Given the description of an element on the screen output the (x, y) to click on. 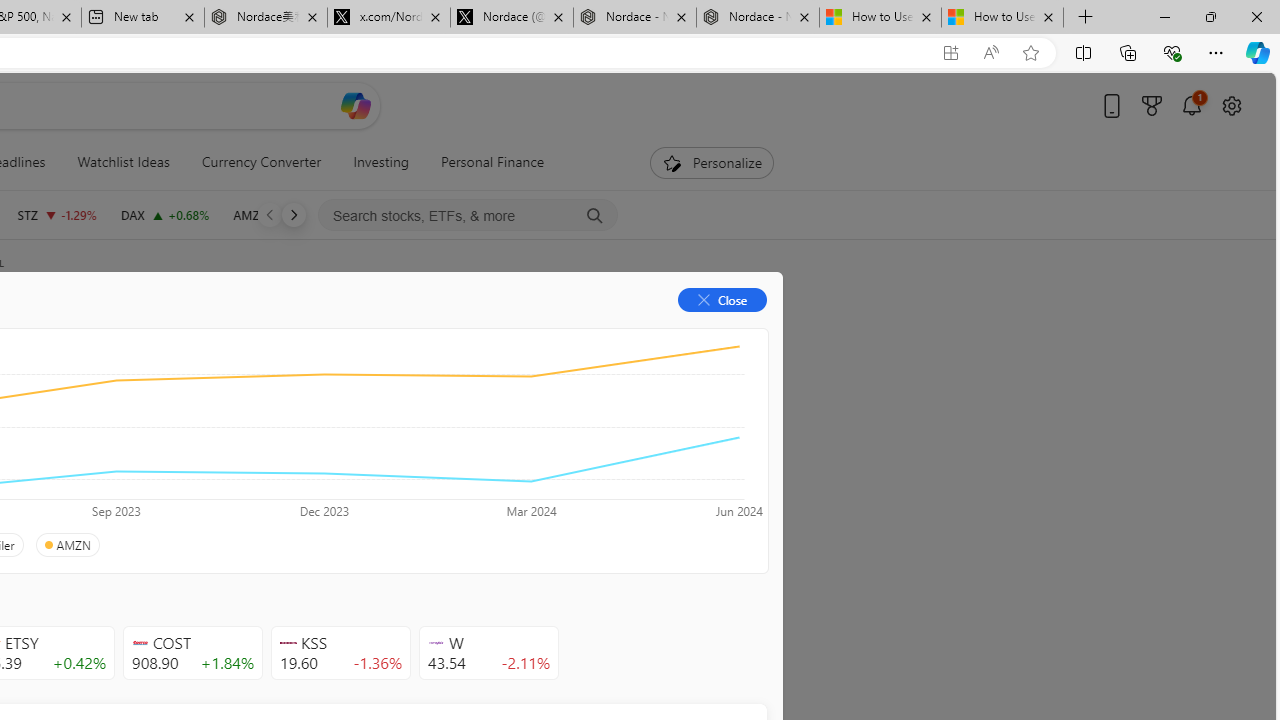
Options (693, 331)
Earnings (398, 331)
AMZN (66, 545)
Personal Finance (493, 162)
Add this page to favorites (Ctrl+D) (1030, 53)
Notifications (1192, 105)
Open settings (1231, 105)
Investing (381, 162)
Nordace (@NordaceOfficial) / X (511, 17)
Currency Converter (261, 162)
Open Copilot (356, 105)
Read aloud this page (Ctrl+Shift+U) (991, 53)
Minimize (1164, 16)
App available. Install Start Money (950, 53)
